Given the description of an element on the screen output the (x, y) to click on. 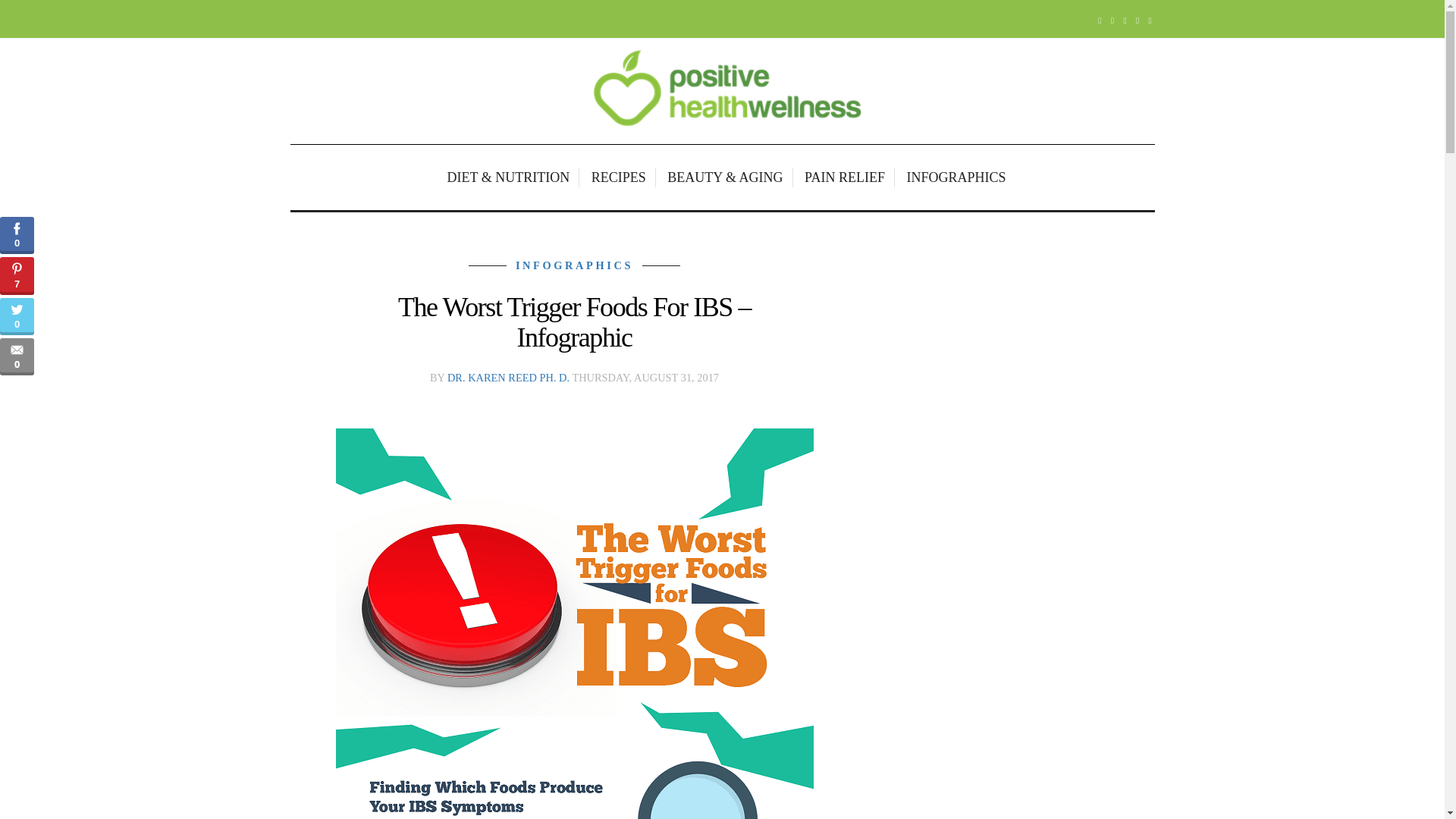
INFOGRAPHICS (574, 265)
Researched and Credible Health Advice (721, 91)
7 (16, 275)
0 (16, 316)
RECIPES (619, 177)
PAIN RELIEF (845, 177)
INFOGRAPHICS (952, 177)
Posts by Dr. Karen Reed Ph. D. (507, 377)
0 (16, 356)
DR. KAREN REED PH. D. (507, 377)
0 (16, 235)
